Given the description of an element on the screen output the (x, y) to click on. 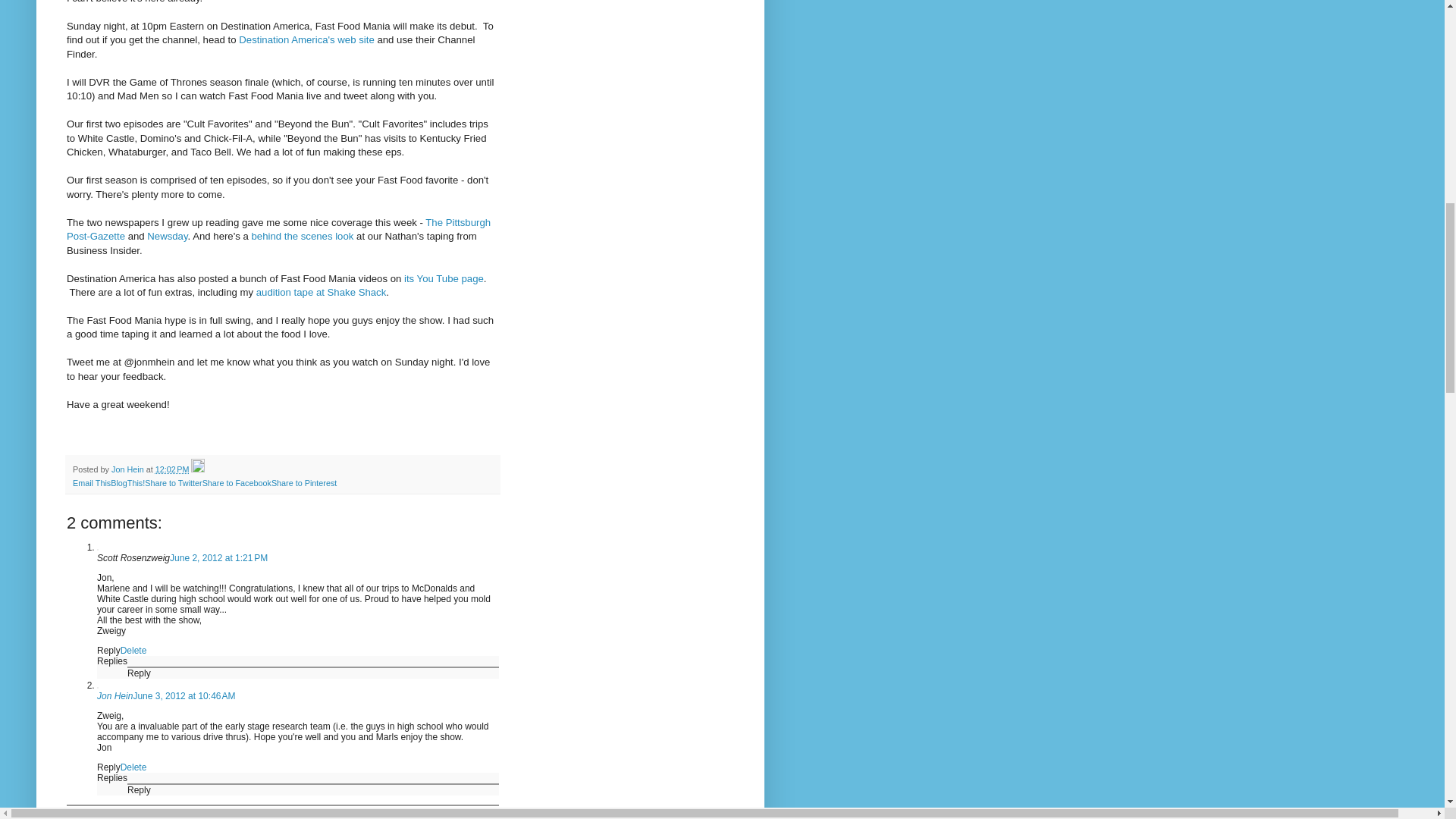
Email This (91, 482)
Load more... (91, 817)
Reply (139, 789)
Replies (112, 661)
Reply (139, 673)
Destination America's web site (306, 39)
BlogThis! (127, 482)
audition tape at Shake Shack (321, 292)
permanent link (172, 469)
Share to Facebook (236, 482)
Delete (133, 767)
author profile (129, 469)
Share to Pinterest (303, 482)
